Given the description of an element on the screen output the (x, y) to click on. 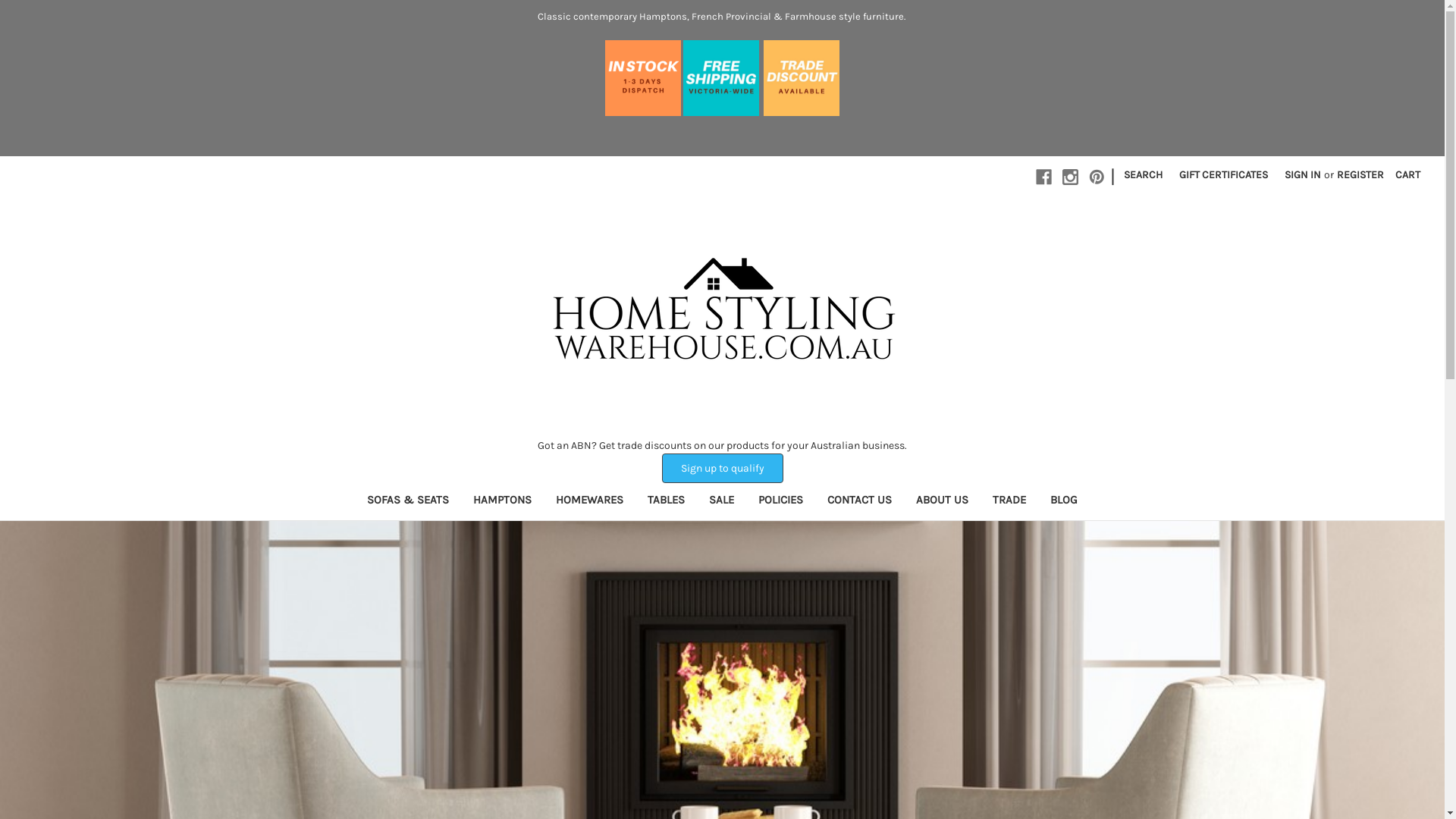
Sign up to qualify Element type: text (721, 468)
REGISTER Element type: text (1360, 174)
HOMEWARES Element type: text (589, 501)
TABLES Element type: text (665, 501)
SIGN IN Element type: text (1302, 174)
SEARCH Element type: text (1142, 174)
CONTACT US Element type: text (859, 501)
GIFT CERTIFICATES Element type: text (1223, 174)
ABOUT US Element type: text (941, 501)
TRADE Element type: text (1009, 501)
CART Element type: text (1407, 174)
BLOG Element type: text (1063, 501)
trade-discount.jpg Element type: hover (801, 78)
POLICIES Element type: text (780, 501)
SOFAS & SEATS Element type: text (407, 501)
HAMPTONS Element type: text (502, 501)
Home Styling Warehouse Element type: hover (721, 313)
SALE Element type: text (721, 501)
free-shipping-victoria-2.jpg Element type: hover (721, 78)
in-stock-2.png Element type: hover (642, 78)
